Given the description of an element on the screen output the (x, y) to click on. 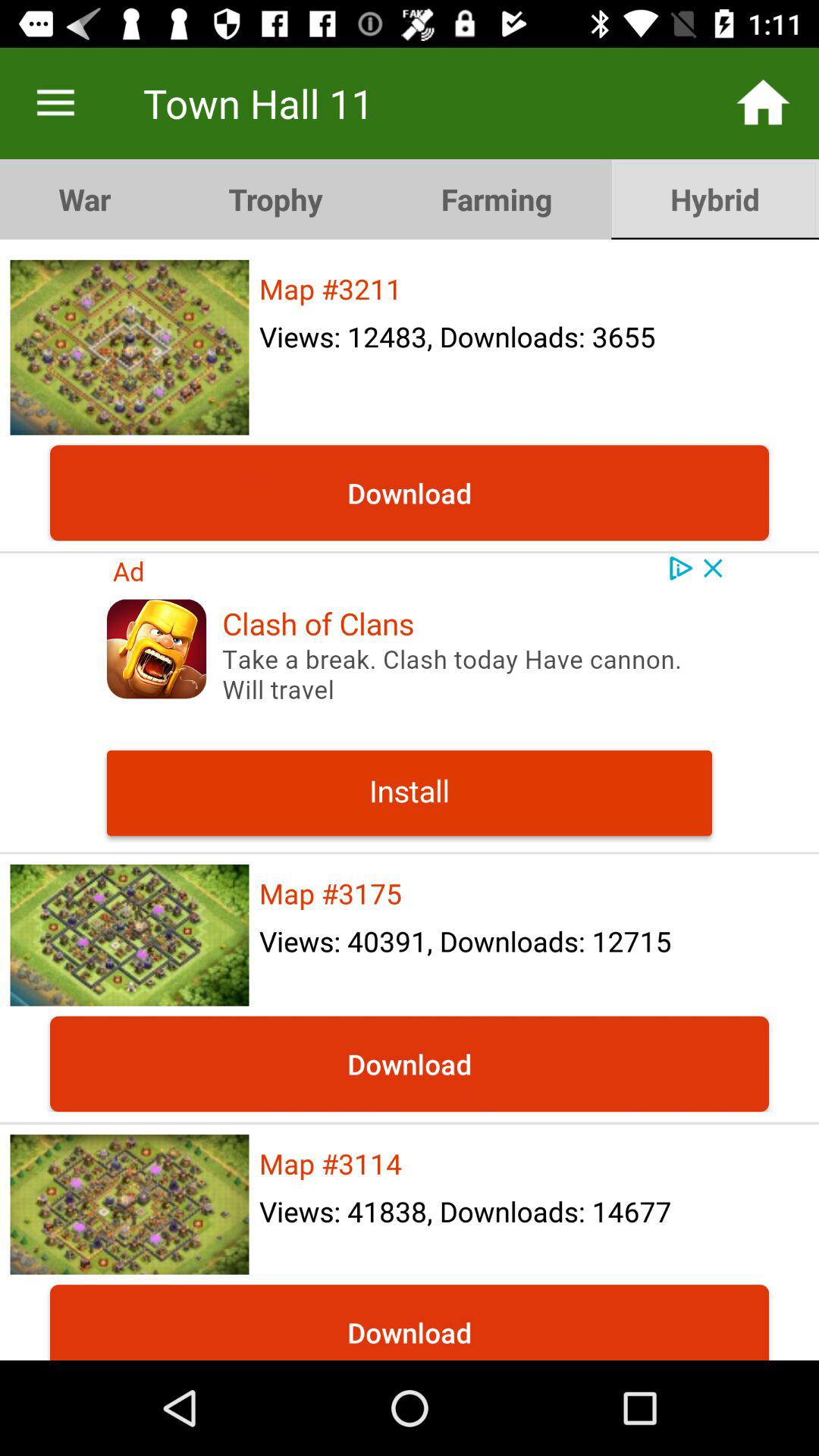
visit advertised website (409, 702)
